Given the description of an element on the screen output the (x, y) to click on. 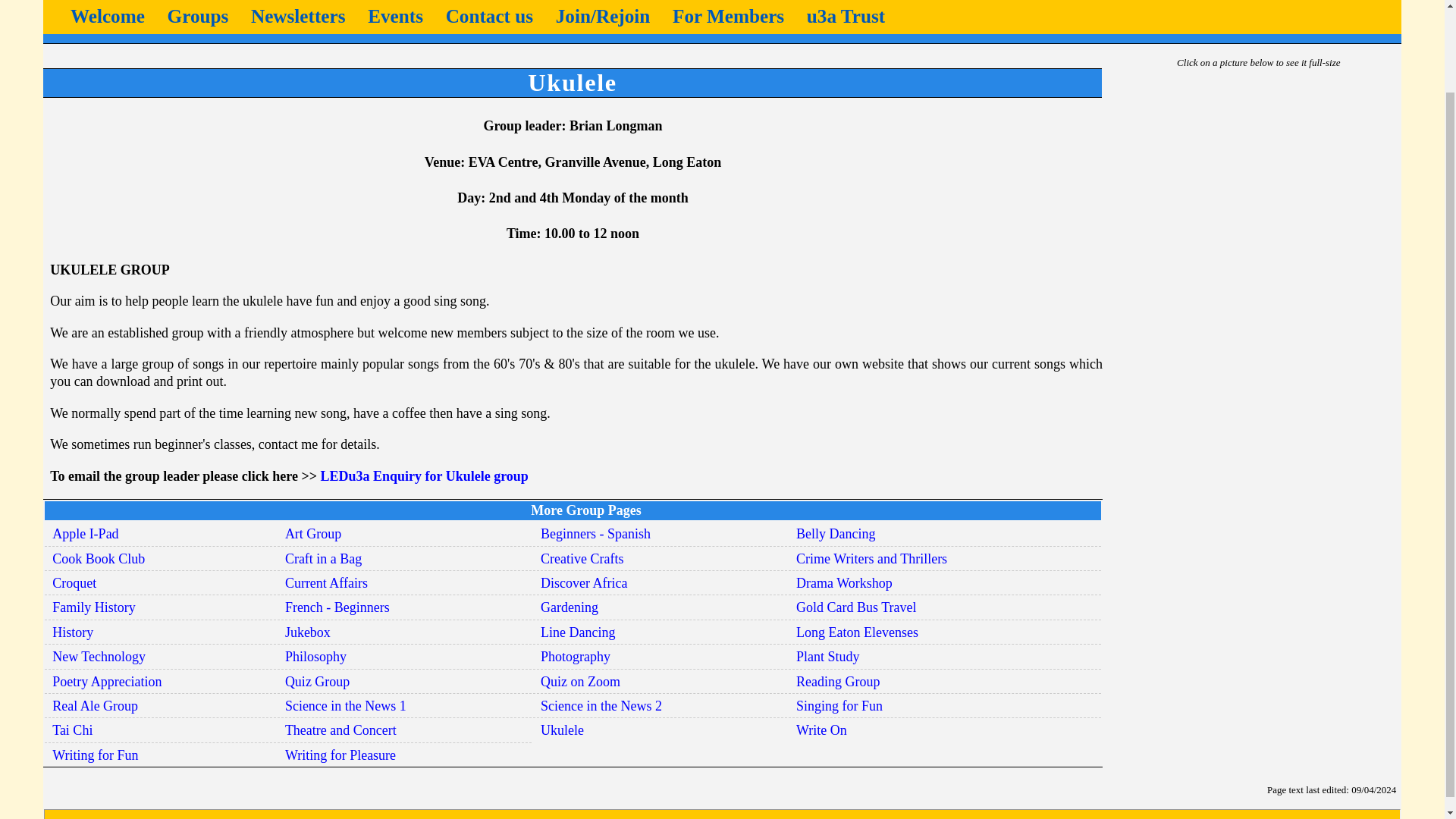
History (72, 631)
Current Affairs (326, 582)
Real Ale Group (95, 705)
Jukebox (307, 631)
Apple I-Pad (84, 533)
Craft in a Bag (323, 558)
Science in the News 1 (345, 705)
Croquet (74, 582)
Cook Book Club (98, 558)
Creative Crafts (581, 558)
